Given the description of an element on the screen output the (x, y) to click on. 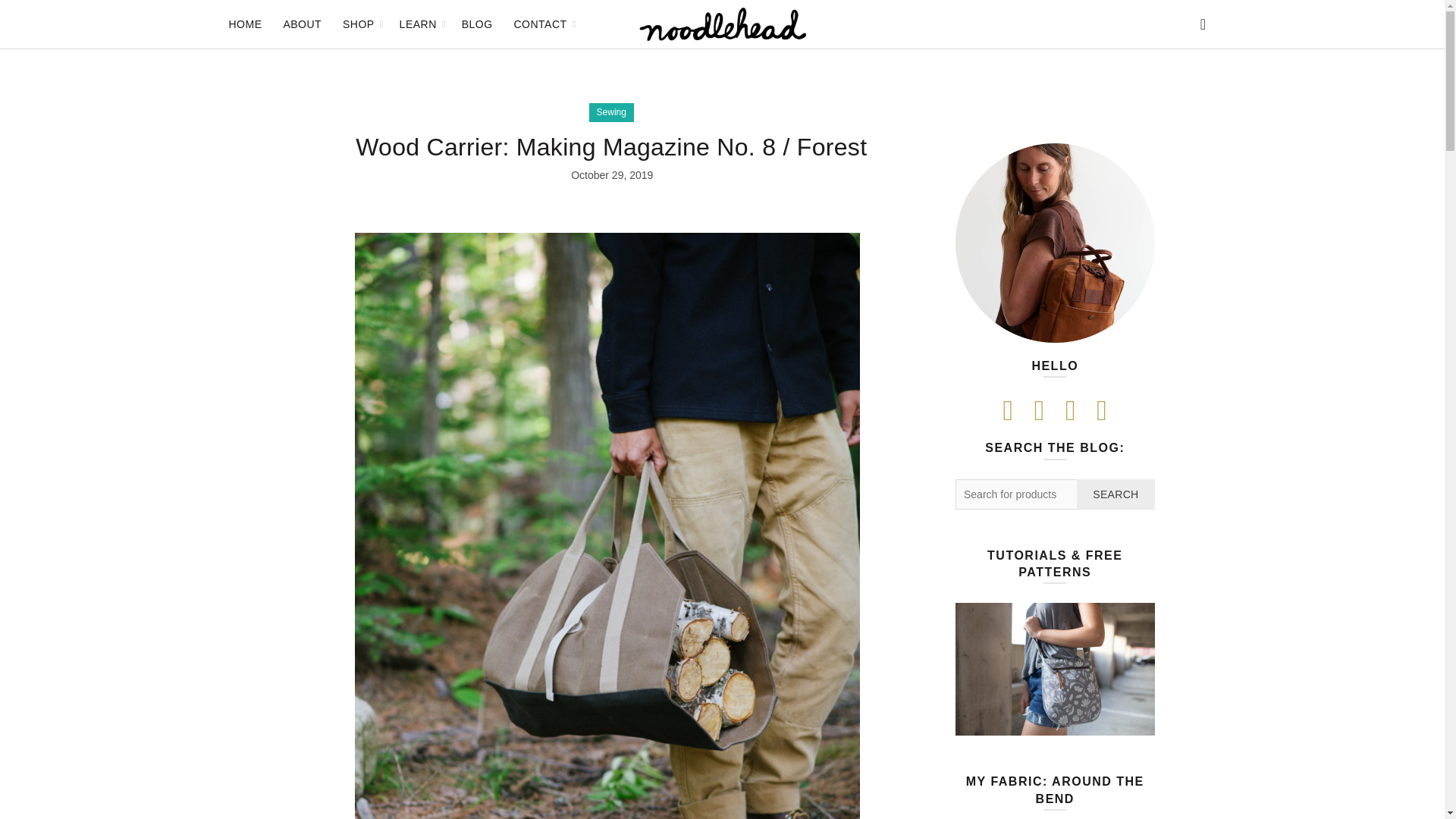
BLOG (476, 23)
Anna Graham (1054, 243)
SHOP (358, 23)
LEARN (418, 23)
CONTACT (539, 23)
ABOUT (302, 23)
HOME (244, 23)
